Given the description of an element on the screen output the (x, y) to click on. 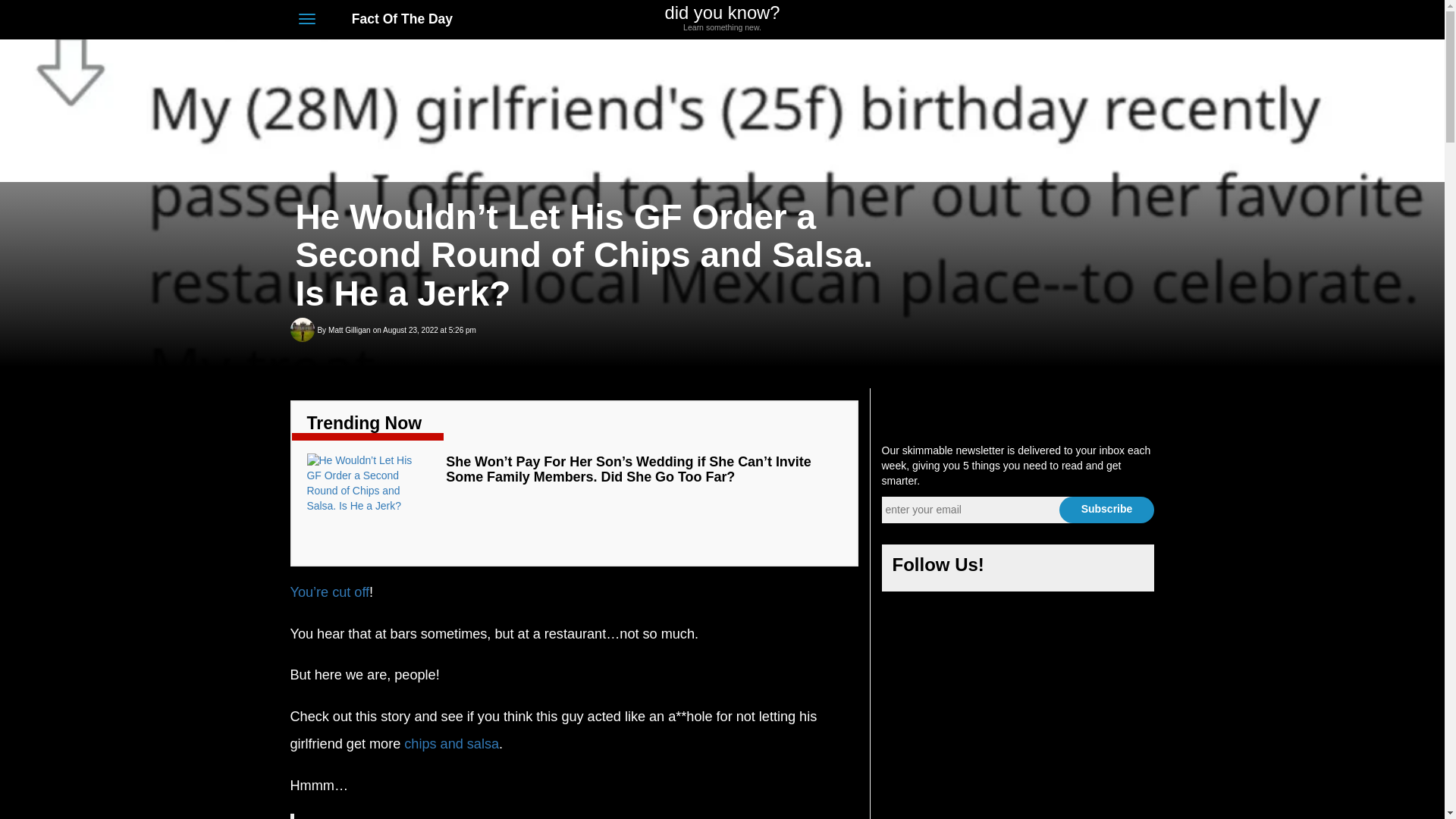
Posts by Matt Gilligan (349, 330)
Matt Gilligan (349, 330)
Instagram (1091, 569)
Tumblr (1127, 569)
Toggle navigation (306, 18)
Subscribe (1106, 509)
chips and salsa (451, 743)
Tumblr (1119, 20)
Instagram (1091, 20)
Twitter (1054, 569)
